Given the description of an element on the screen output the (x, y) to click on. 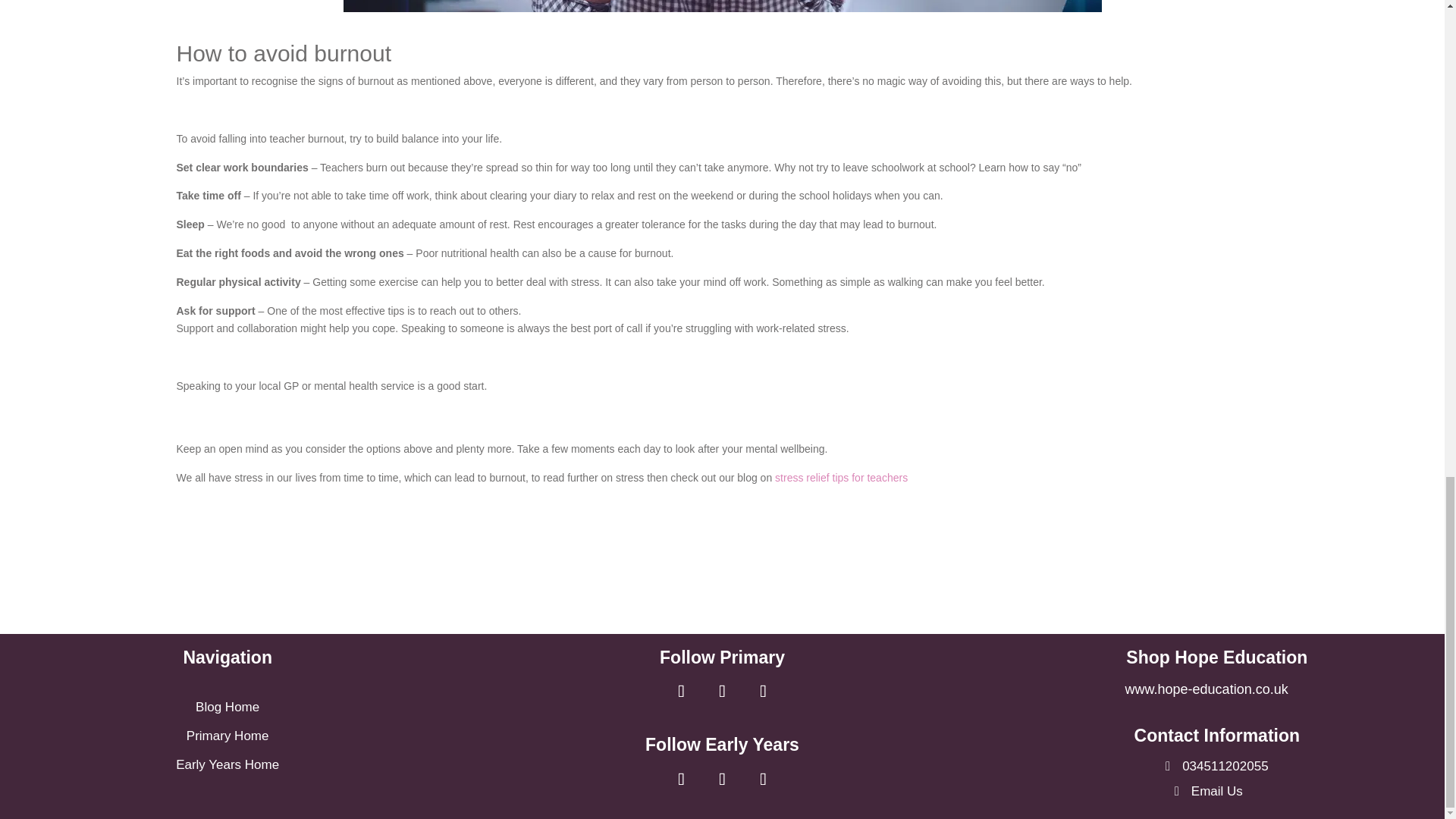
Early Years Home (227, 765)
Follow on Facebook (680, 691)
Follow on Twitter (721, 691)
Primary Home (227, 736)
034511202055 (1216, 767)
Follow on Facebook (680, 779)
stress relief tips for teachers (840, 477)
Follow on Instagram (762, 779)
Composite,Image,Of,Businessman,Stressed,Out,At,Work (721, 6)
www.hope-education.co.uk (1217, 689)
